Given the description of an element on the screen output the (x, y) to click on. 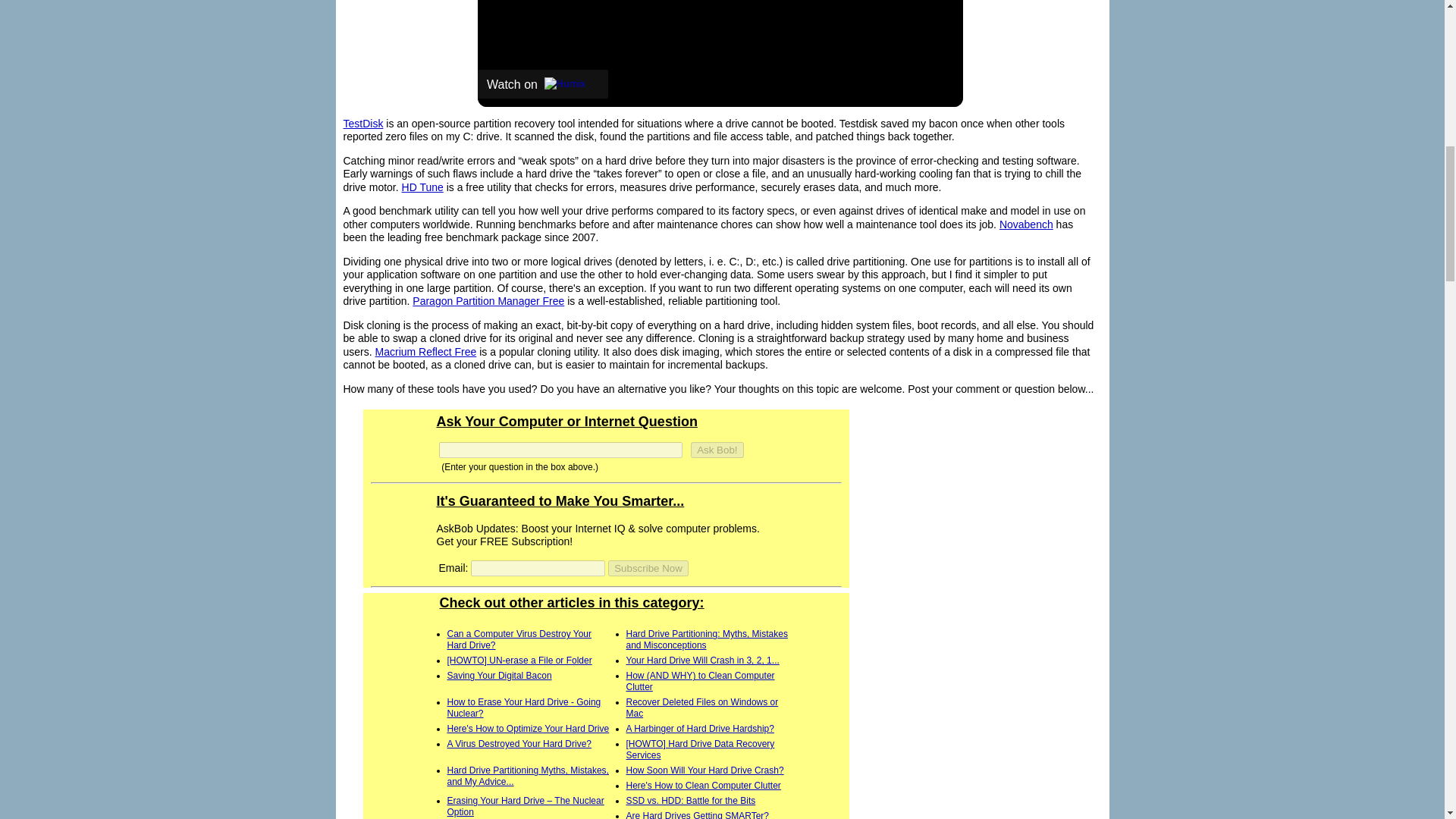
Subscribe Now (648, 568)
How to Erase Your Hard Drive - Going Nuclear? (523, 707)
Watch on (542, 83)
Paragon Partition Manager Free (488, 300)
HD Tune (422, 186)
A Virus Destroyed Your Hard Drive? (519, 743)
Can a Computer Virus Destroy Your Hard Drive? (519, 639)
Here's How to Optimize Your Hard Drive (528, 728)
Ask Bob! (716, 449)
TestDisk (362, 123)
Subscribe Now (648, 568)
Ask Bob! (716, 449)
Saving Your Digital Bacon (498, 675)
Macrium Reflect Free (426, 351)
